Given the description of an element on the screen output the (x, y) to click on. 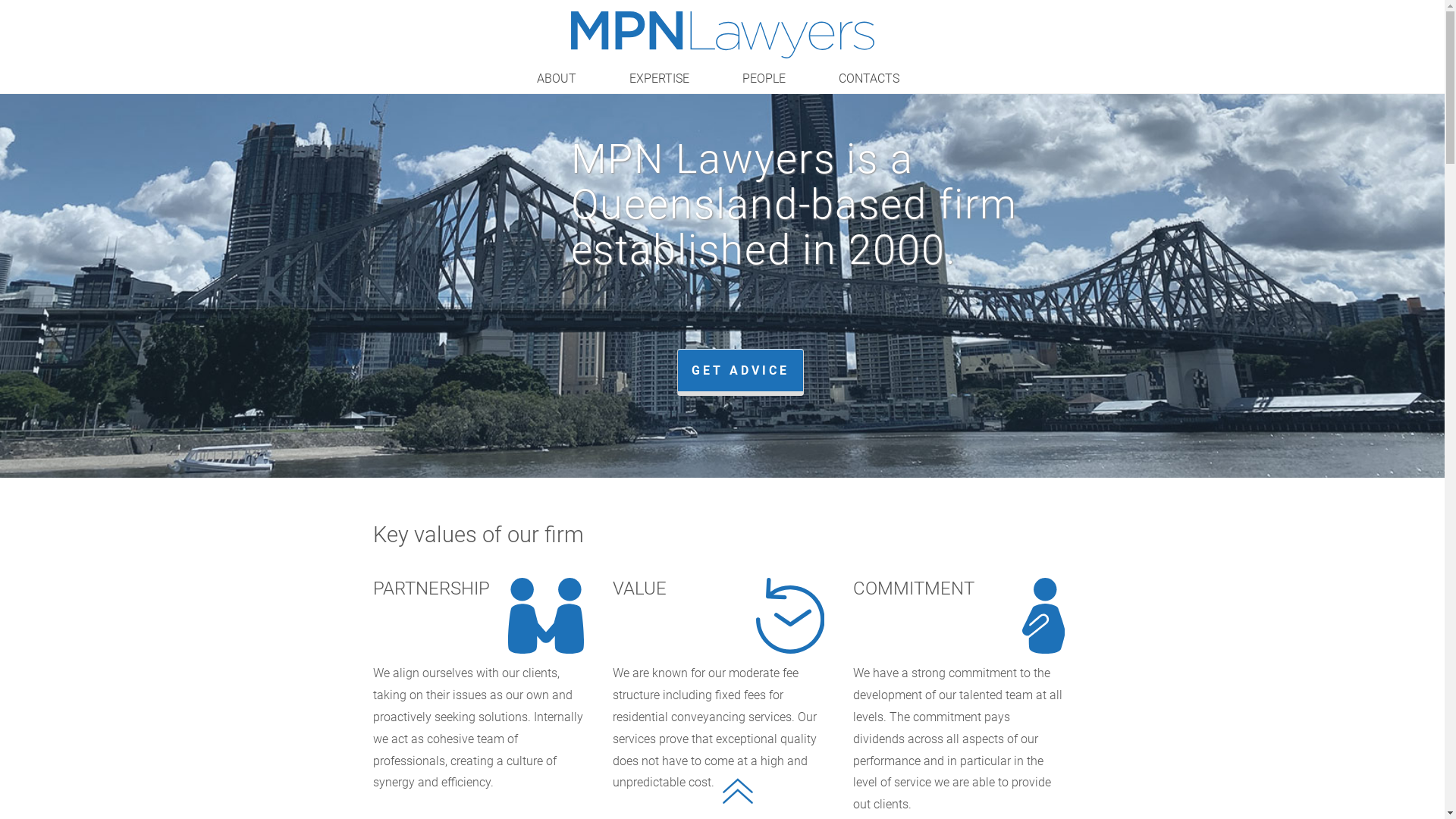
CONTACTS Element type: text (868, 78)
GET ADVICE Element type: text (739, 371)
PEOPLE Element type: text (762, 78)
EXPERTISE Element type: text (659, 78)
ABOUT Element type: text (556, 78)
MPN Lawyers Element type: hover (721, 34)
